Given the description of an element on the screen output the (x, y) to click on. 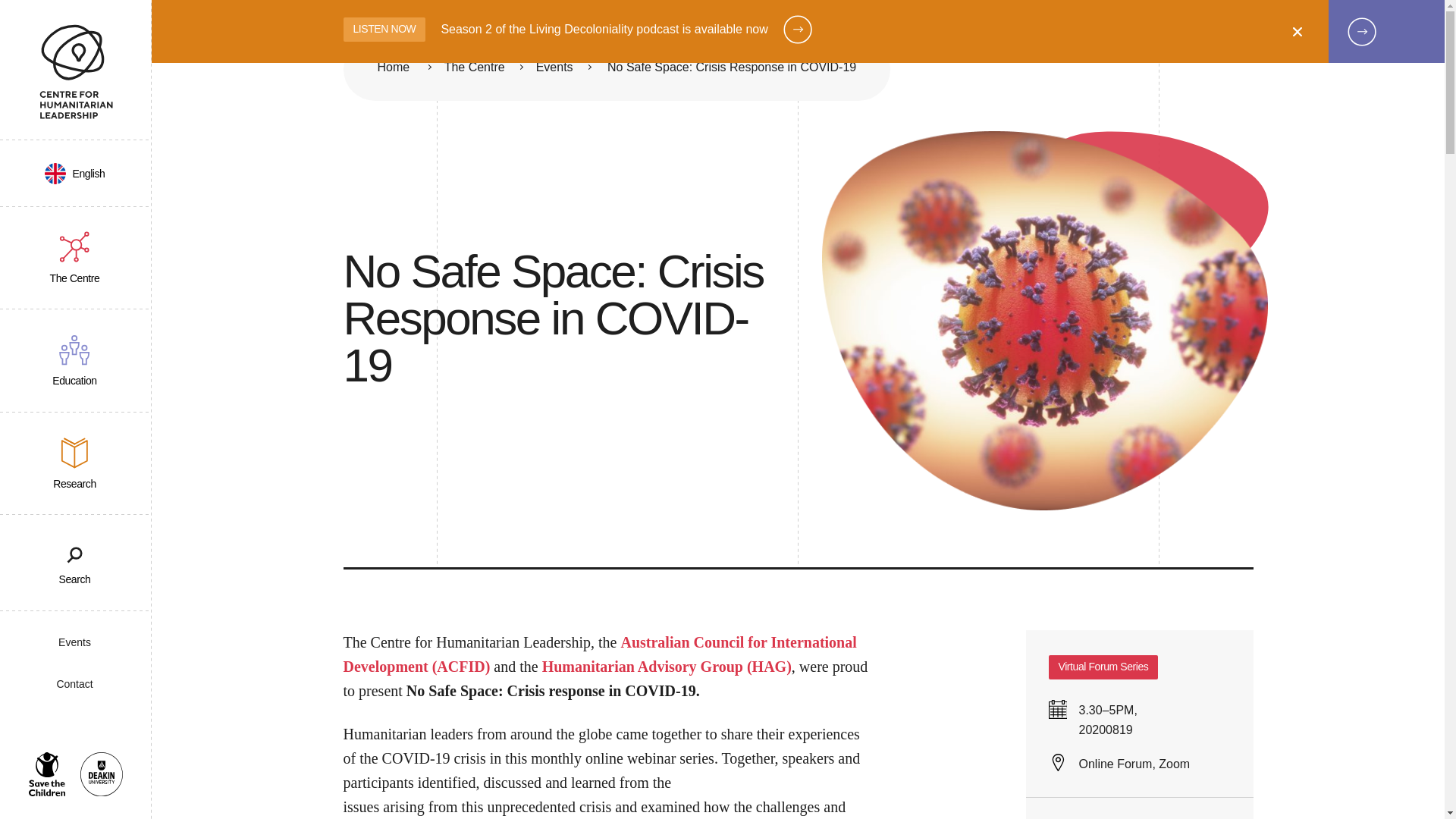
The Centre (75, 258)
Go to Events. (554, 68)
Education (75, 360)
Go to The Centre. (474, 68)
